Given the description of an element on the screen output the (x, y) to click on. 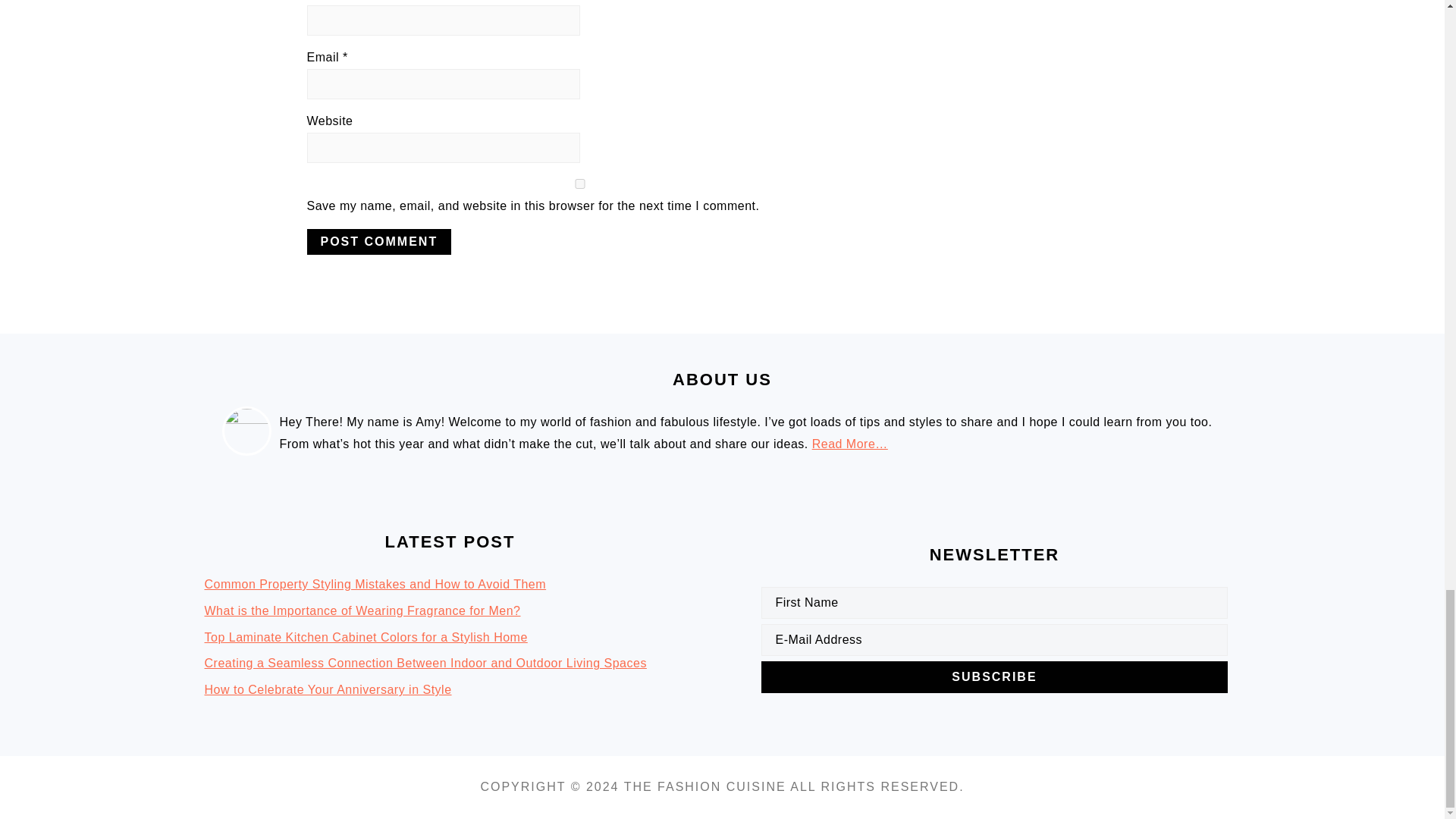
Post Comment (378, 241)
Post Comment (378, 241)
Subscribe (994, 676)
yes (578, 184)
